Given the description of an element on the screen output the (x, y) to click on. 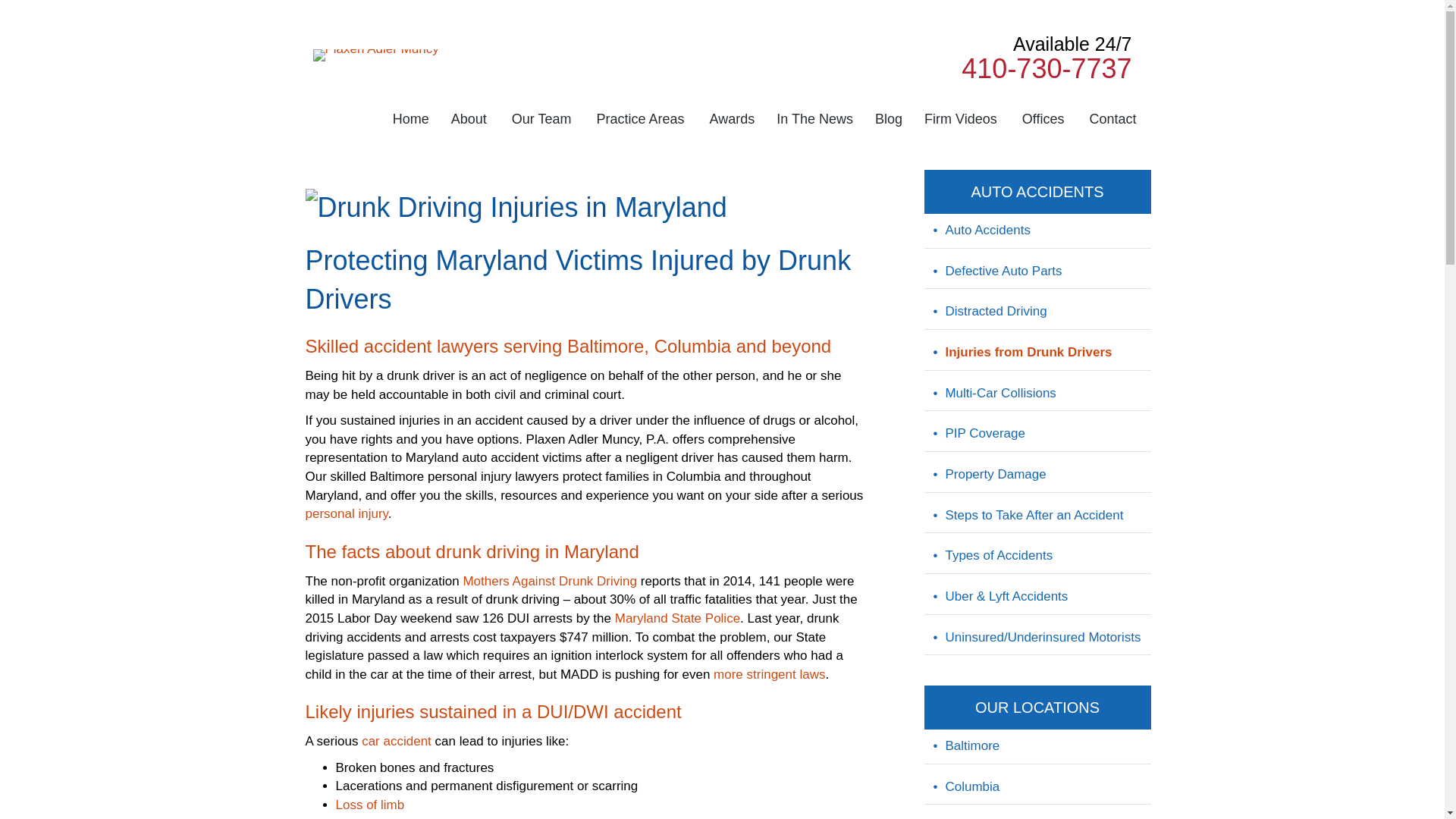
410-730-7737 (1045, 68)
Plaxen-Adler-Muncy (375, 54)
